Given the description of an element on the screen output the (x, y) to click on. 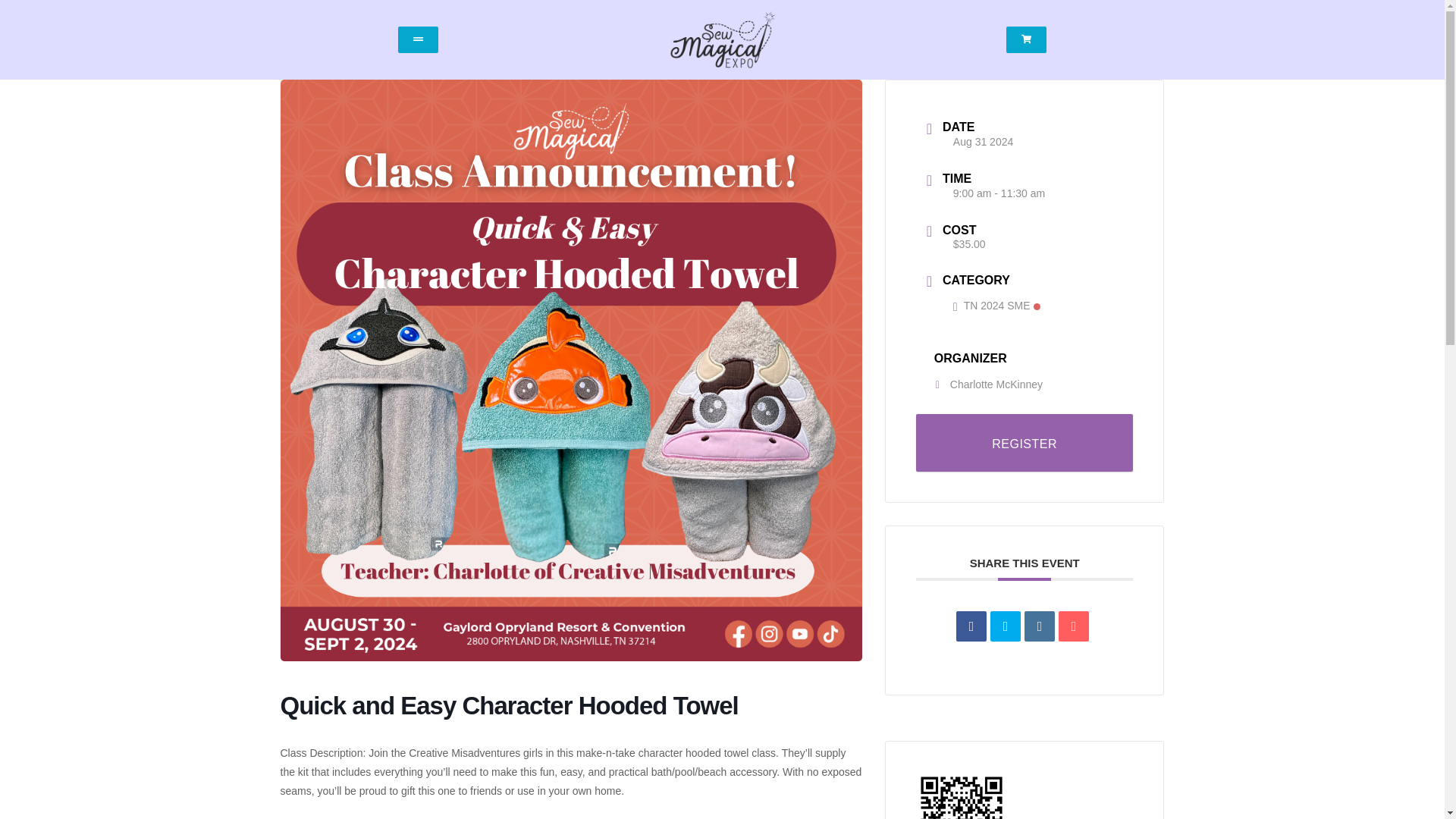
TN 2024 SME  (997, 305)
Linkedin (1039, 625)
Tweet (1005, 625)
Email (1073, 625)
REGISTER (1024, 442)
Share on Facebook (971, 625)
